Given the description of an element on the screen output the (x, y) to click on. 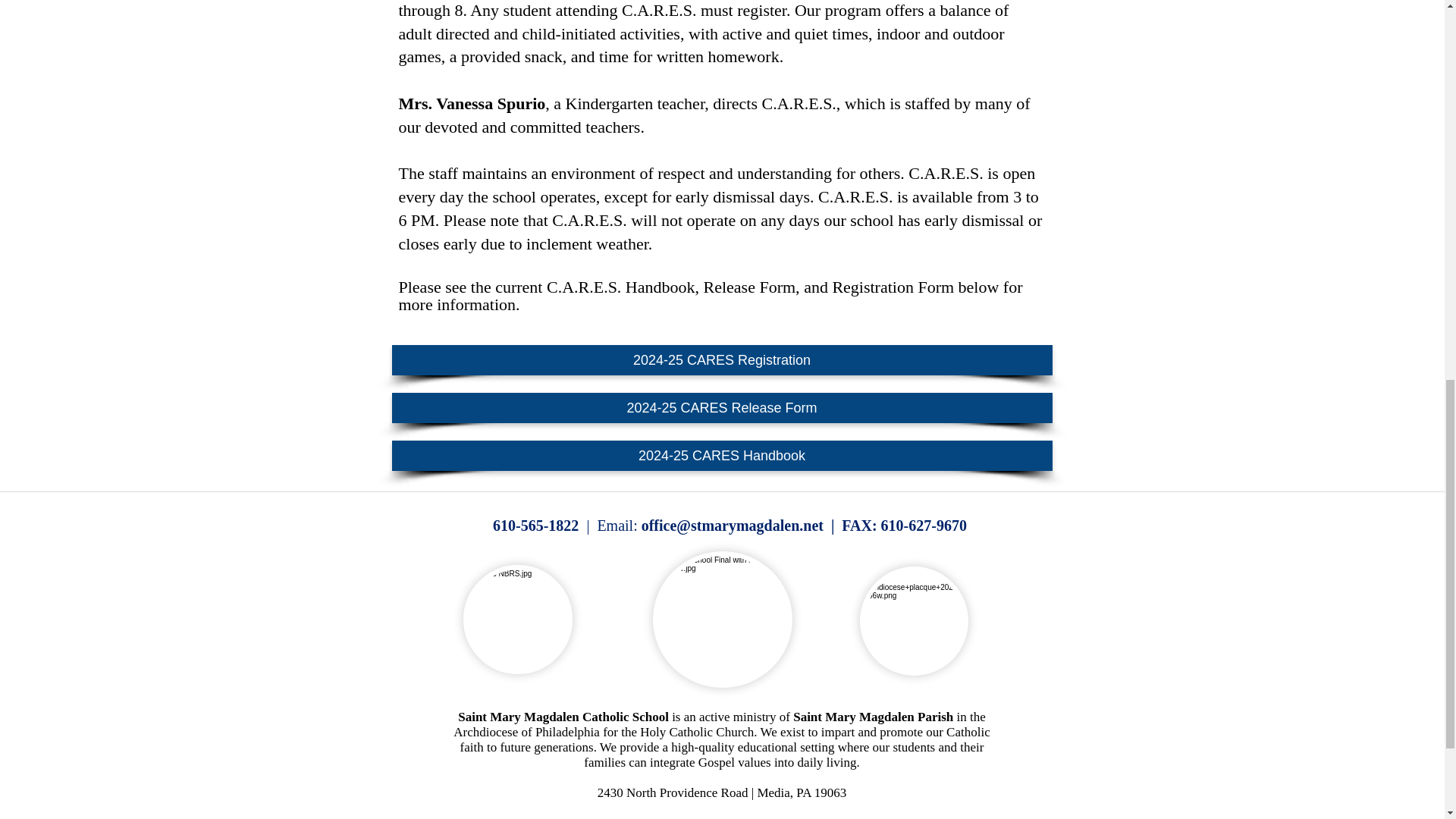
610-565-1822 (535, 524)
Saint Mary Magdalen Parish (873, 716)
2024-25 CARES Release Form (721, 408)
2024-25 CARES Handbook (721, 455)
2024-25 CARES Registration (721, 359)
